Given the description of an element on the screen output the (x, y) to click on. 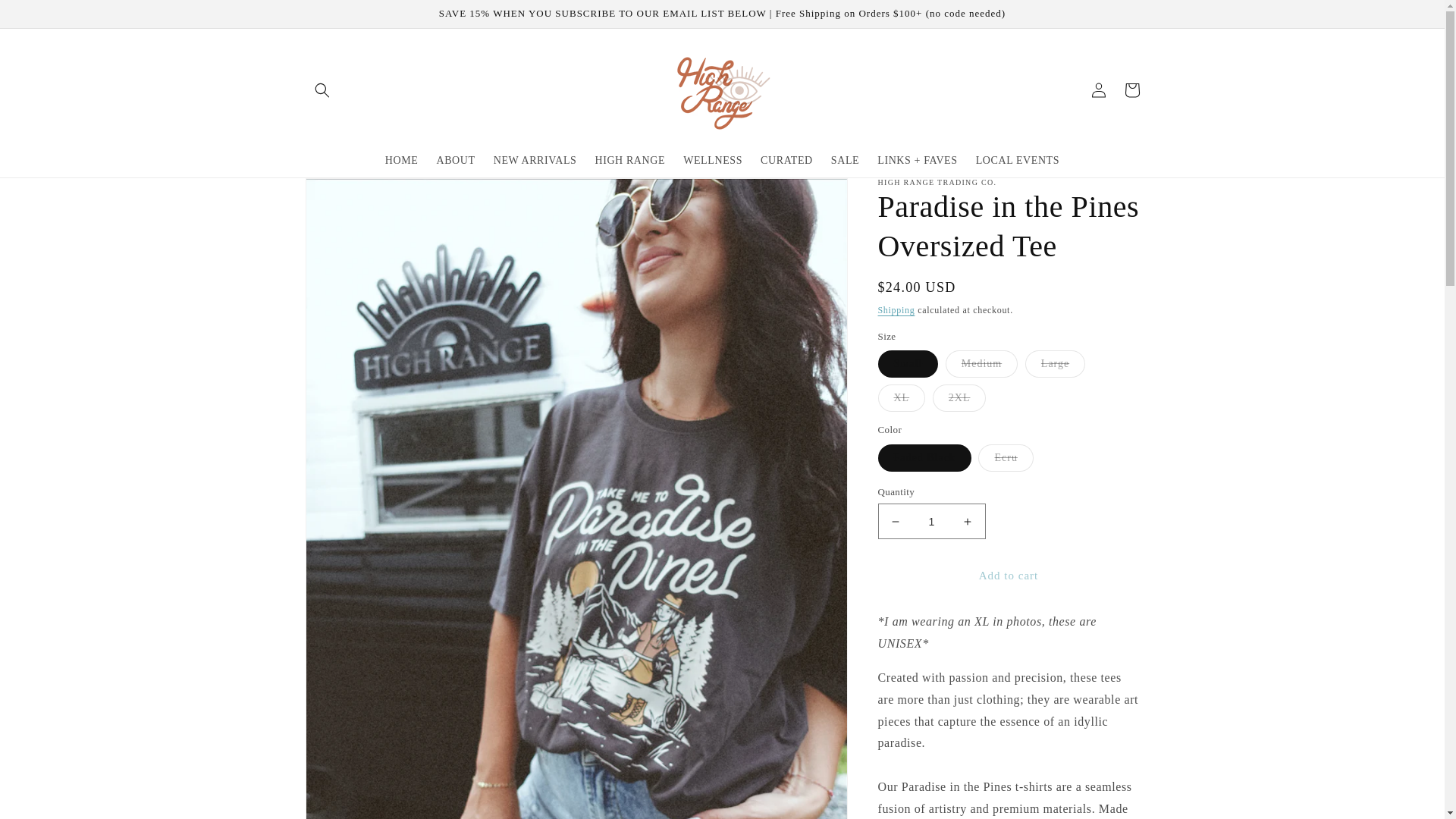
NEW ARRIVALS (535, 160)
Skip to content (45, 16)
CURATED (786, 160)
1 (931, 520)
Cart (1131, 90)
WELLNESS (712, 160)
HOME (401, 160)
ABOUT (454, 160)
Log in (1098, 90)
